Given the description of an element on the screen output the (x, y) to click on. 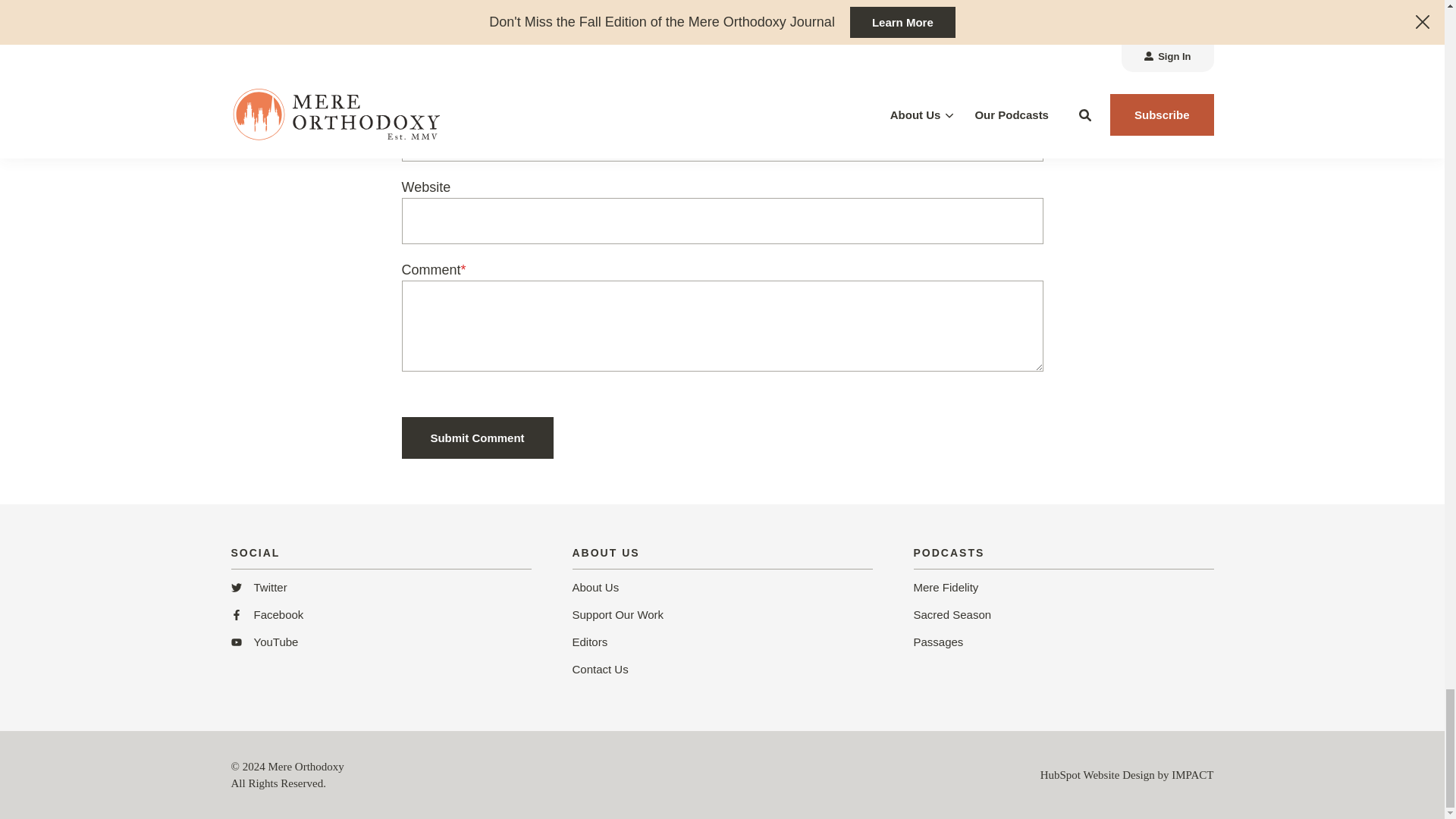
Follow us on Twitter (258, 589)
Submit Comment (477, 437)
